Given the description of an element on the screen output the (x, y) to click on. 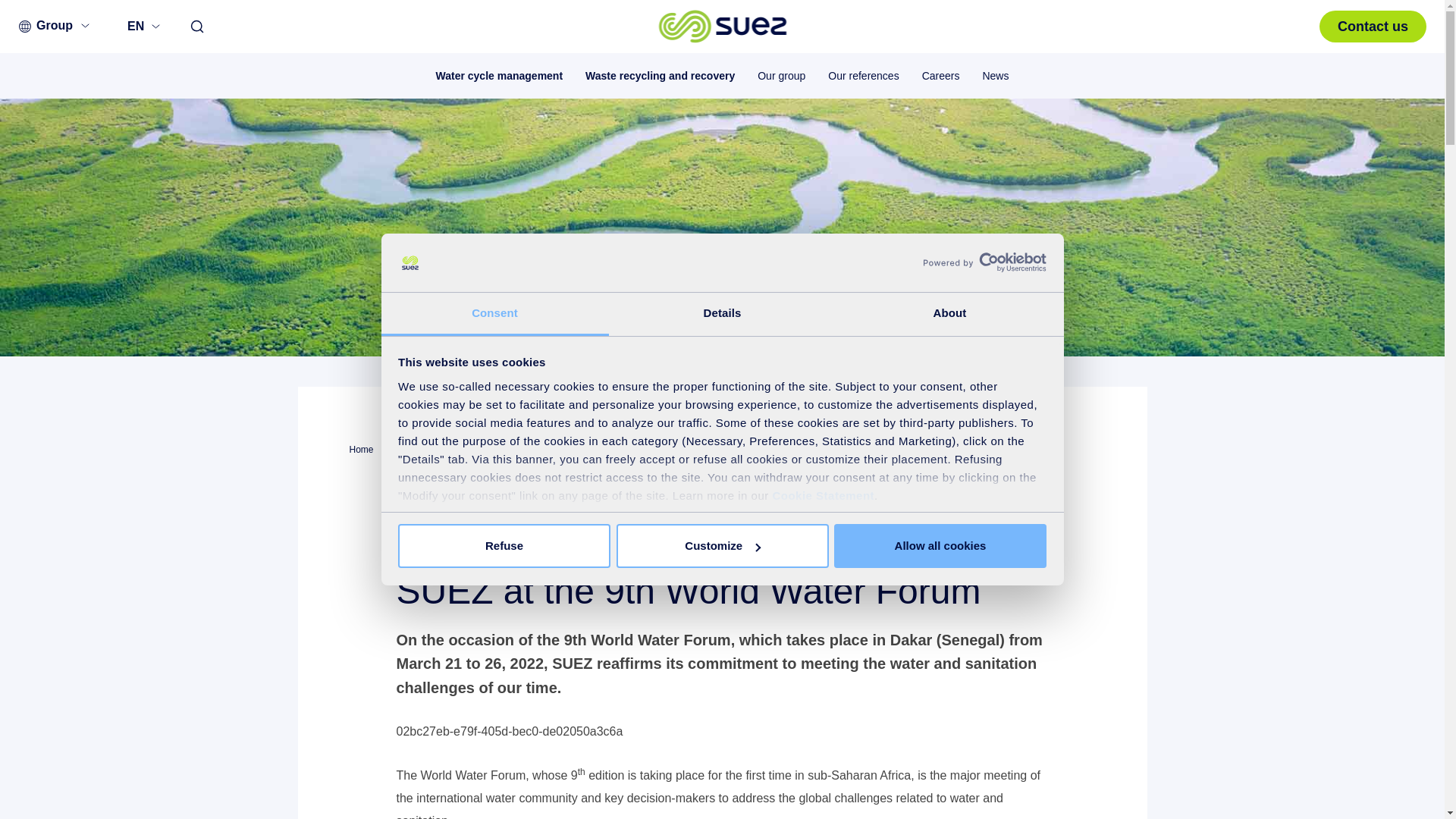
Cookie Statement (823, 495)
About (948, 313)
Details (721, 313)
Consent (494, 313)
